Given the description of an element on the screen output the (x, y) to click on. 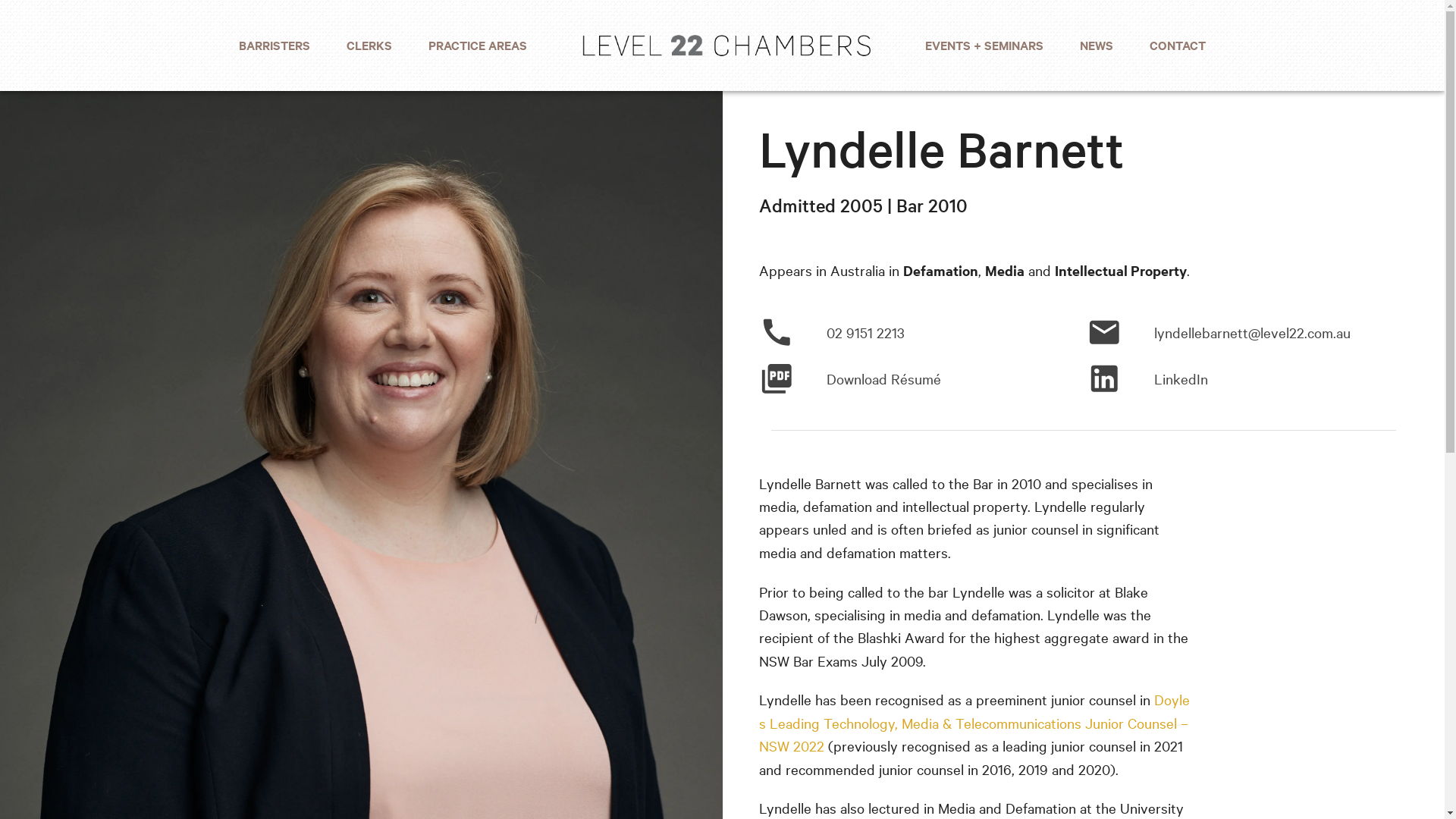
CLERKS Element type: text (369, 45)
Level 22 Logo Element type: hover (726, 45)
NEWS Element type: text (1096, 45)
CONTACT Element type: text (1177, 45)
LinkedIn Element type: text (1147, 378)
PRACTICE AREAS Element type: text (477, 45)
02 9151 2213 Element type: text (830, 332)
EVENTS + SEMINARS Element type: text (984, 45)
lyndellebarnett@level22.com.au Element type: text (1218, 332)
BARRISTERS Element type: text (274, 45)
